Given the description of an element on the screen output the (x, y) to click on. 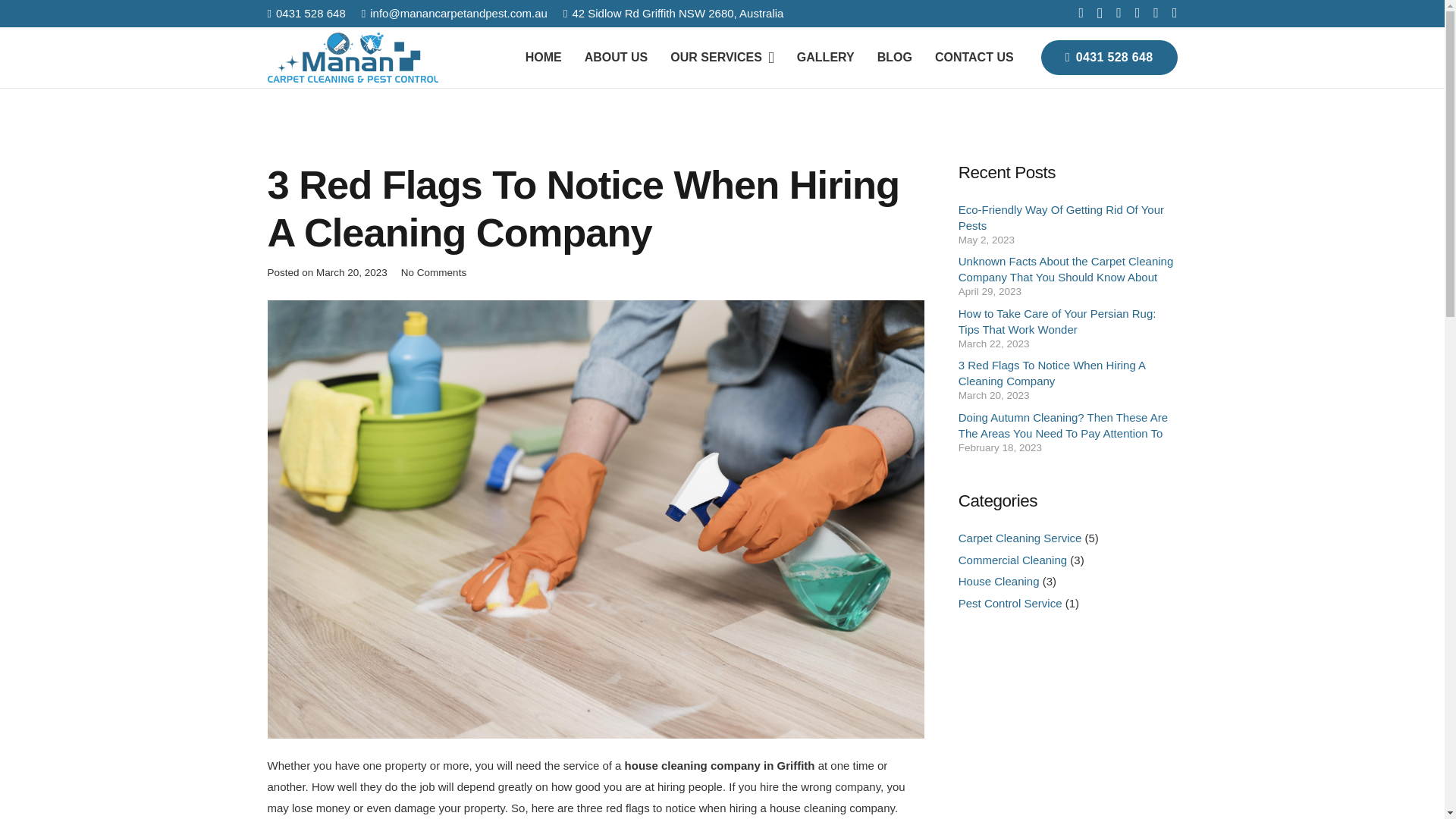
Carpet Cleaning Service (1019, 537)
ABOUT US (616, 57)
HOME (543, 57)
BLOG (894, 57)
No Comments (433, 272)
42 Sidlow Rd Griffith NSW 2680, Australia (673, 12)
0431 528 648 (1109, 57)
3 Red Flags To Notice When Hiring A Cleaning Company (1051, 372)
No Comments (433, 272)
Eco-Friendly Way Of Getting Rid Of Your Pests (1060, 217)
How to Take Care of Your Persian Rug: Tips That Work Wonder (1057, 321)
CONTACT US (974, 57)
0431 528 648 (305, 12)
